Given the description of an element on the screen output the (x, y) to click on. 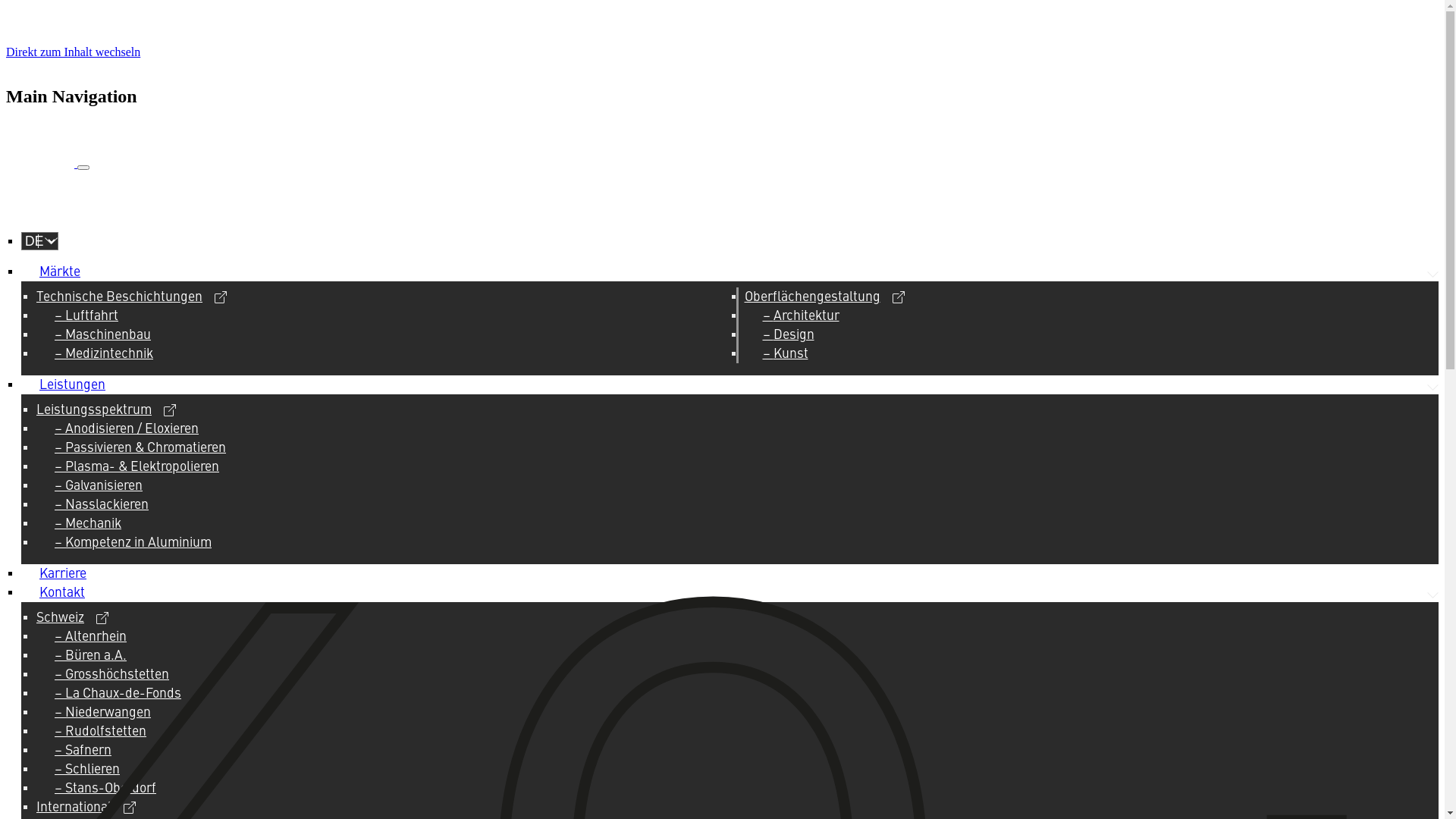
Technische Beschichtungen Element type: text (131, 297)
Niederwangen Element type: text (102, 712)
Anodisieren / Eloxieren Element type: text (126, 429)
Karriere Element type: text (62, 573)
Mechanik Element type: text (87, 523)
International Element type: text (85, 807)
Passivieren & Chromatieren Element type: text (140, 448)
Design Element type: text (788, 335)
Kunst Element type: text (785, 354)
Altenrhein Element type: text (90, 636)
Kontakt Element type: text (62, 592)
Safnern Element type: text (82, 750)
Architektur Element type: text (800, 316)
Plasma- & Elektropolieren Element type: text (136, 467)
Medizintechnik Element type: text (103, 354)
Schlieren Element type: text (87, 769)
Stans-Oberdorf Element type: text (105, 788)
Schweiz Element type: text (72, 617)
Kompetenz in Aluminium Element type: text (132, 542)
Maschinenbau Element type: text (102, 335)
Leistungen Element type: text (72, 385)
Leistungsspektrum Element type: text (105, 410)
Luftfahrt Element type: text (86, 316)
La Chaux-de-Fonds Element type: text (117, 693)
Rudolfstetten Element type: text (100, 731)
Nasslackieren Element type: text (101, 504)
Direkt zum Inhalt wechseln Element type: text (73, 51)
Galvanisieren Element type: text (98, 486)
